Given the description of an element on the screen output the (x, y) to click on. 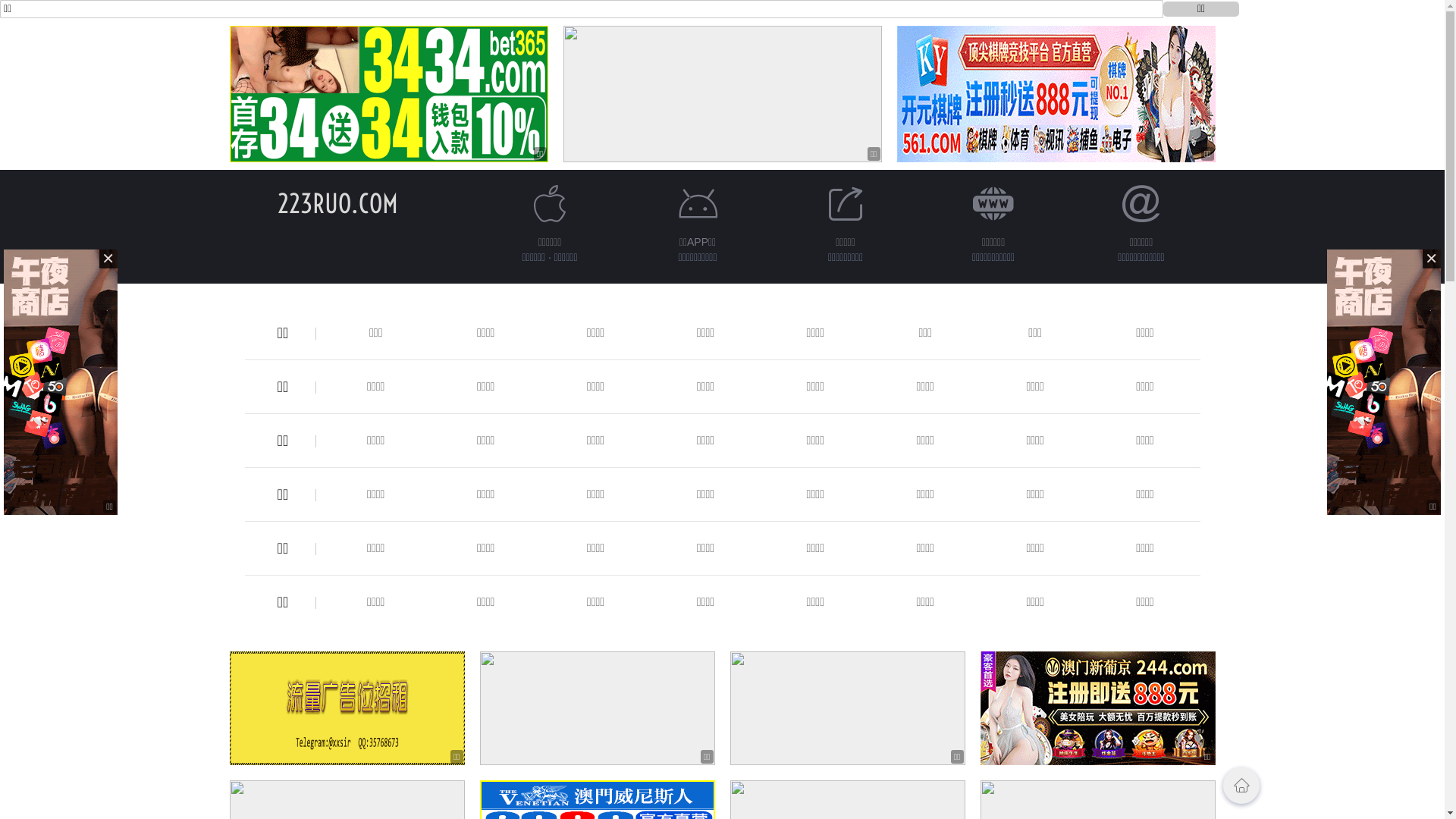
223RUO.COM Element type: text (337, 203)
